Given the description of an element on the screen output the (x, y) to click on. 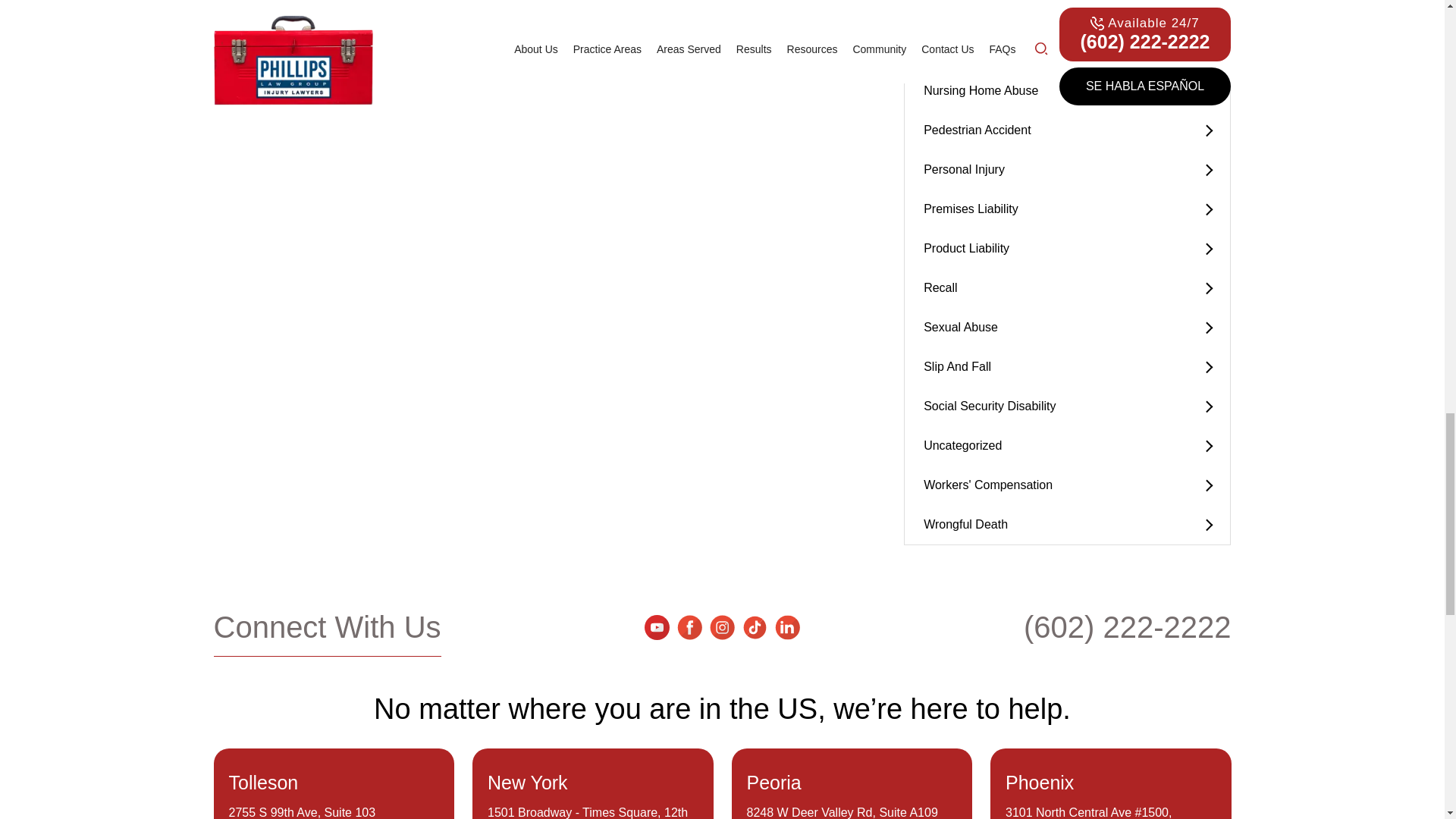
View all post filed under Personal Injury (1067, 169)
View all post filed under Nursing Home Abuse (1067, 90)
View all post filed under Motorcycle Accidents (1067, 51)
View all post filed under Pedestrian Accident (1067, 129)
View all post filed under Medical Malpractice (1067, 15)
